Given the description of an element on the screen output the (x, y) to click on. 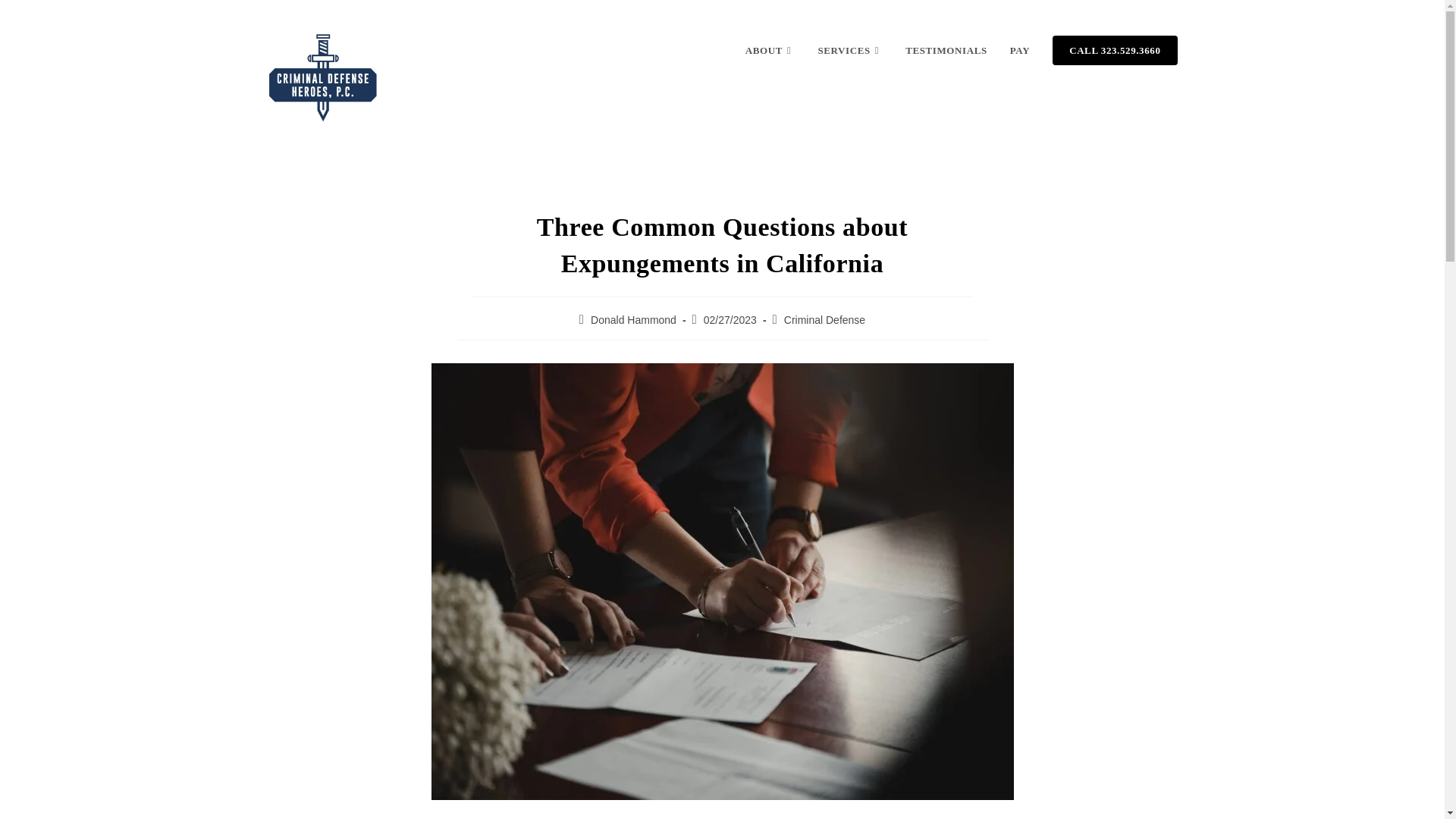
Posts by Donald Hammond (634, 319)
CALL 323.529.3660 (1114, 50)
SERVICES (849, 50)
TESTIMONIALS (945, 50)
ABOUT (769, 50)
